Given the description of an element on the screen output the (x, y) to click on. 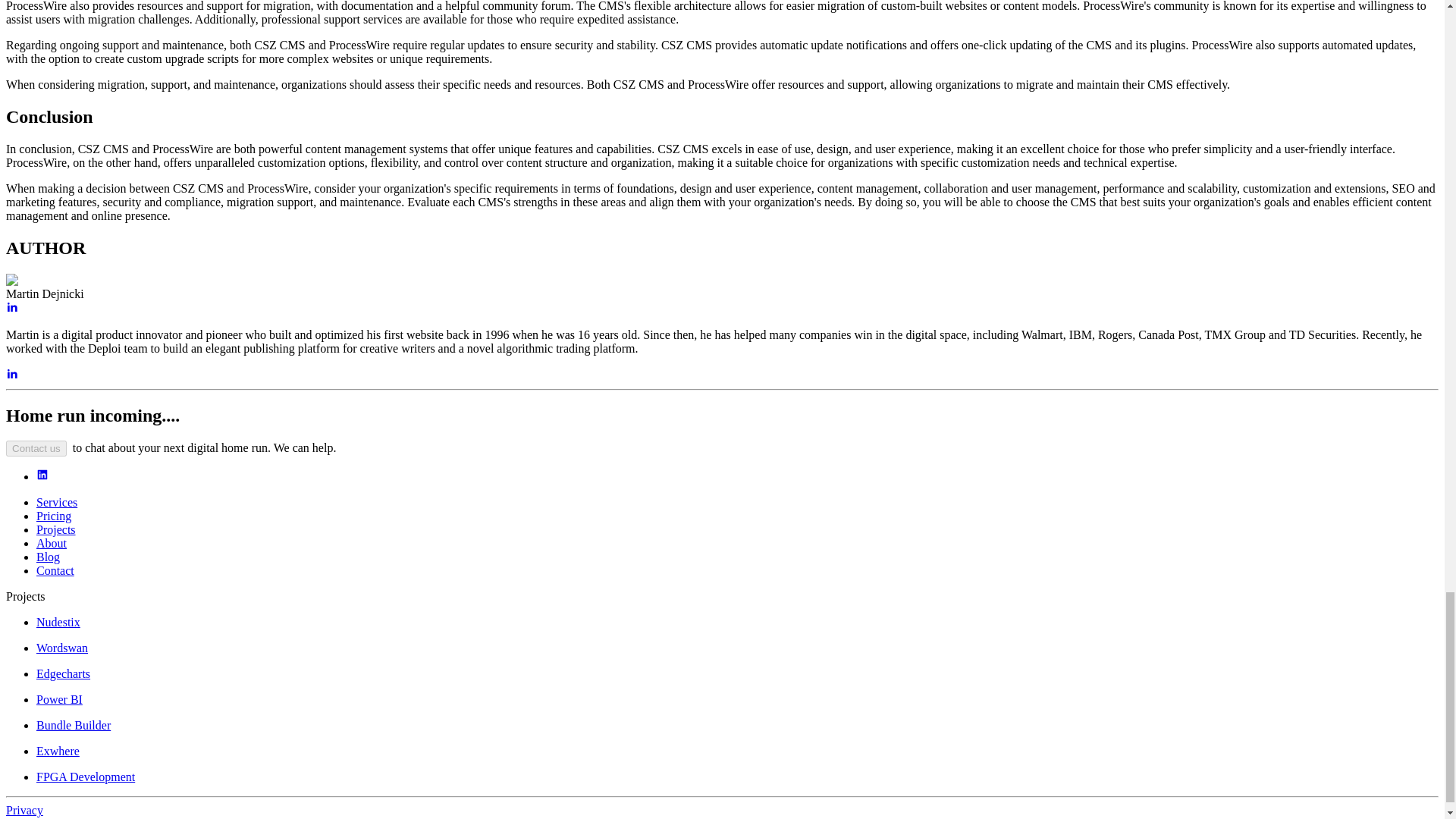
Pricing (53, 515)
About (51, 543)
Blog (47, 556)
Projects (55, 529)
Services (56, 502)
Contact us (35, 448)
Contact us (35, 447)
Contact (55, 570)
Privacy (24, 809)
